Given the description of an element on the screen output the (x, y) to click on. 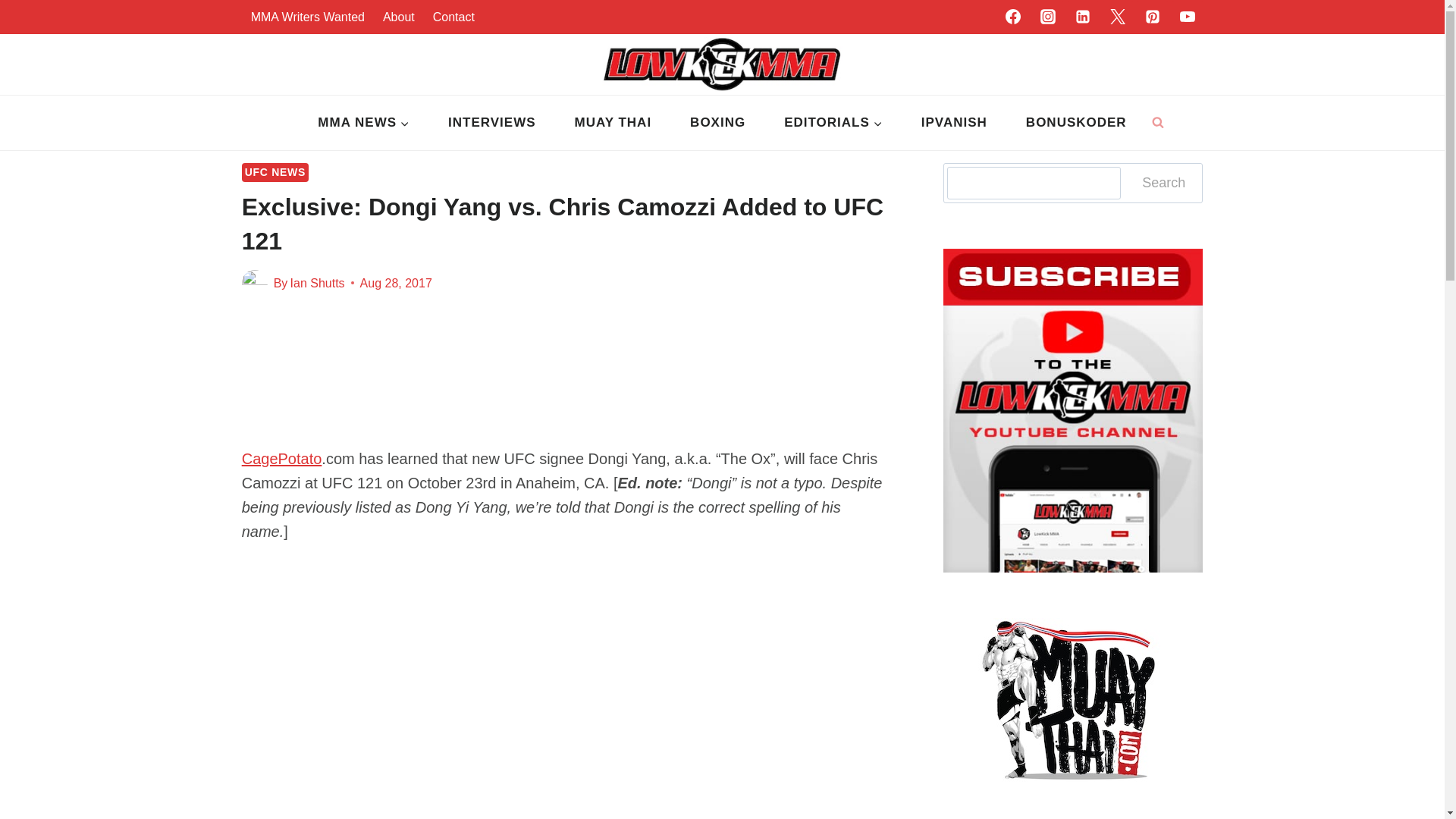
BONUSKODER (1075, 122)
About (398, 17)
IPVANISH (953, 122)
MMA Writers Wanted (307, 17)
EDITORIALS (833, 122)
MUAY THAI (612, 122)
MMA NEWS (363, 122)
Contact (453, 17)
BOXING (718, 122)
